Given the description of an element on the screen output the (x, y) to click on. 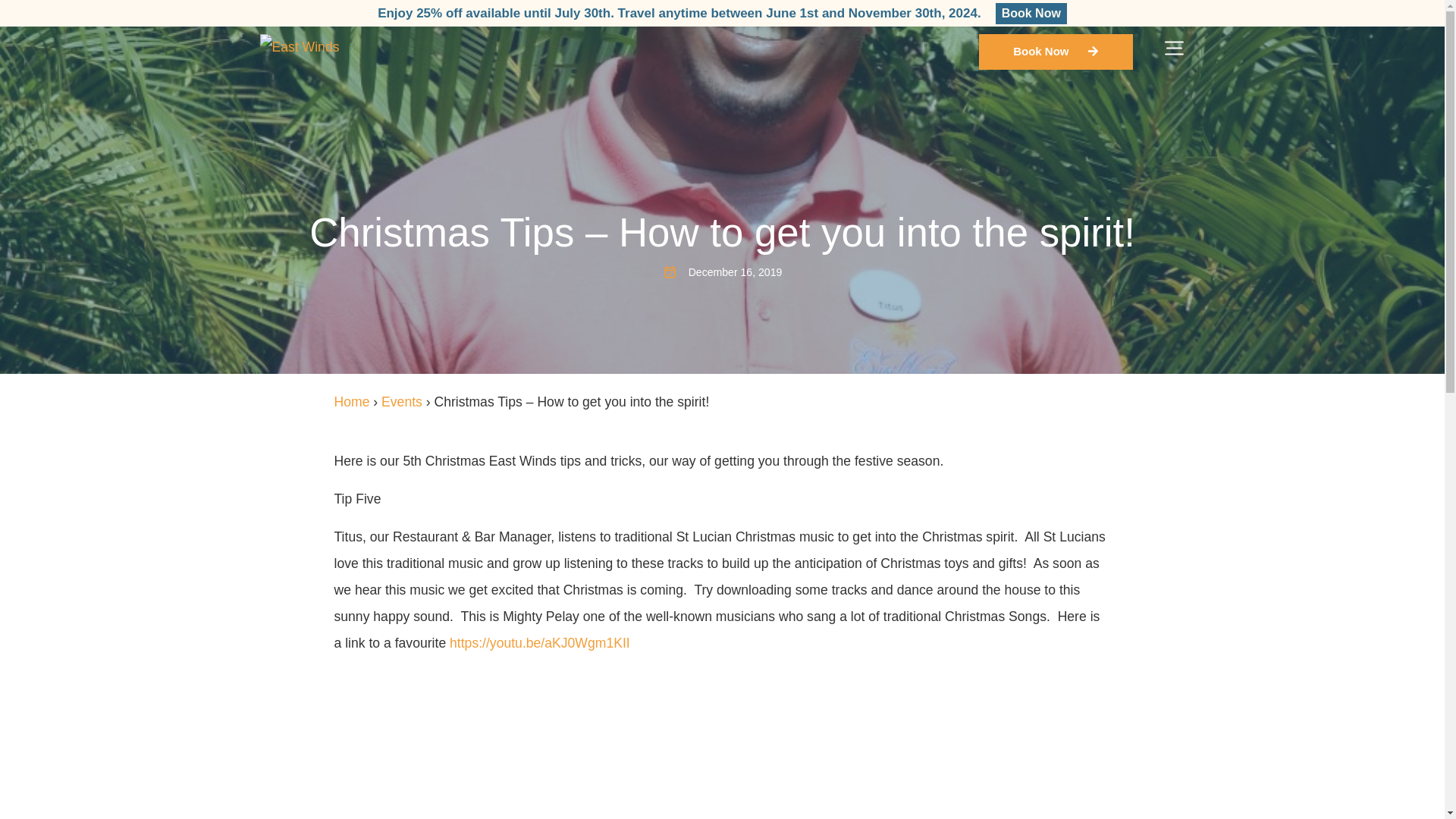
Events (401, 401)
Home (351, 401)
Book Now (1055, 51)
Home (351, 401)
December 16, 2019 (722, 272)
Book Now (1031, 13)
Events (401, 401)
